Given the description of an element on the screen output the (x, y) to click on. 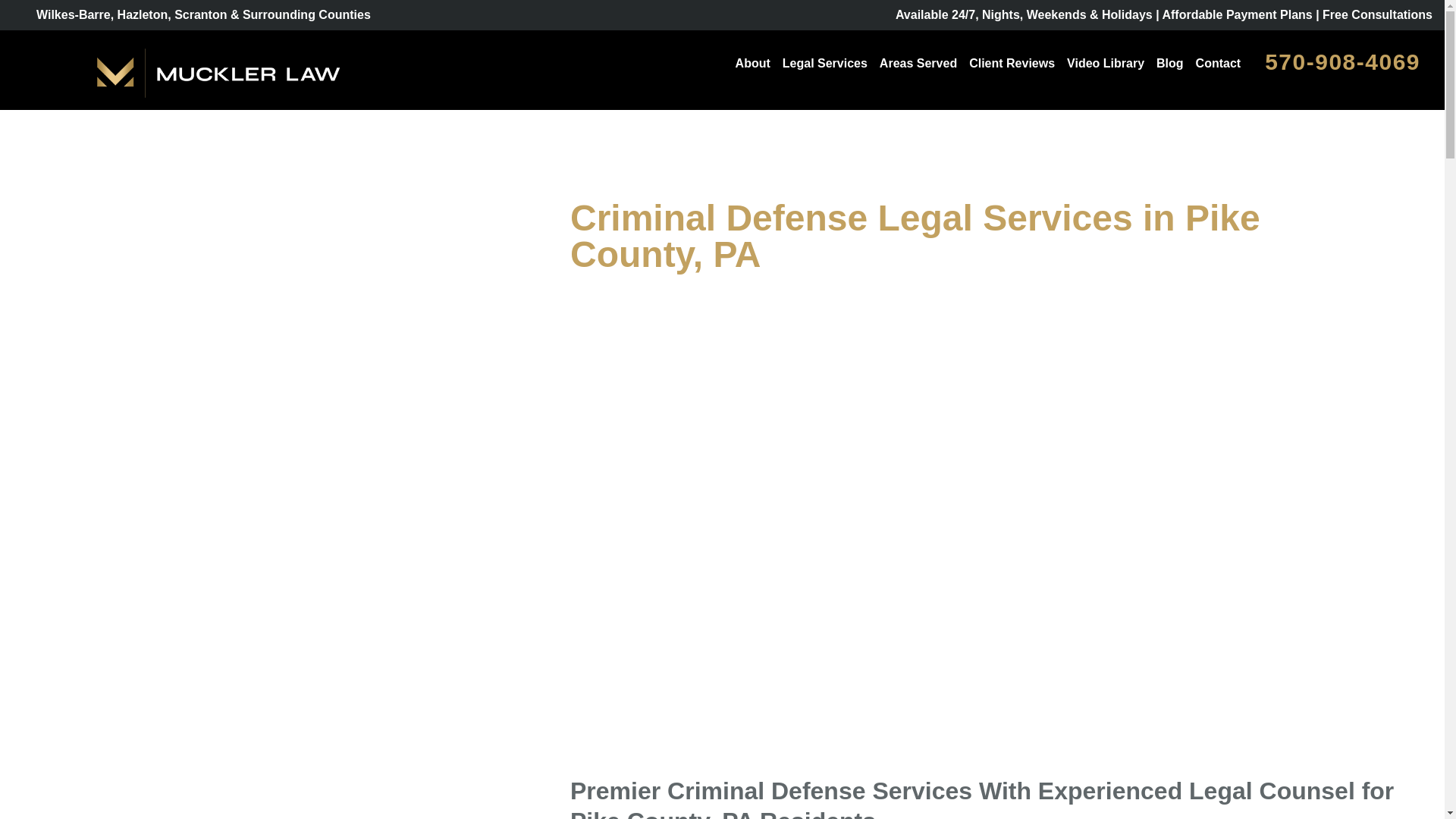
About (752, 63)
